Given the description of an element on the screen output the (x, y) to click on. 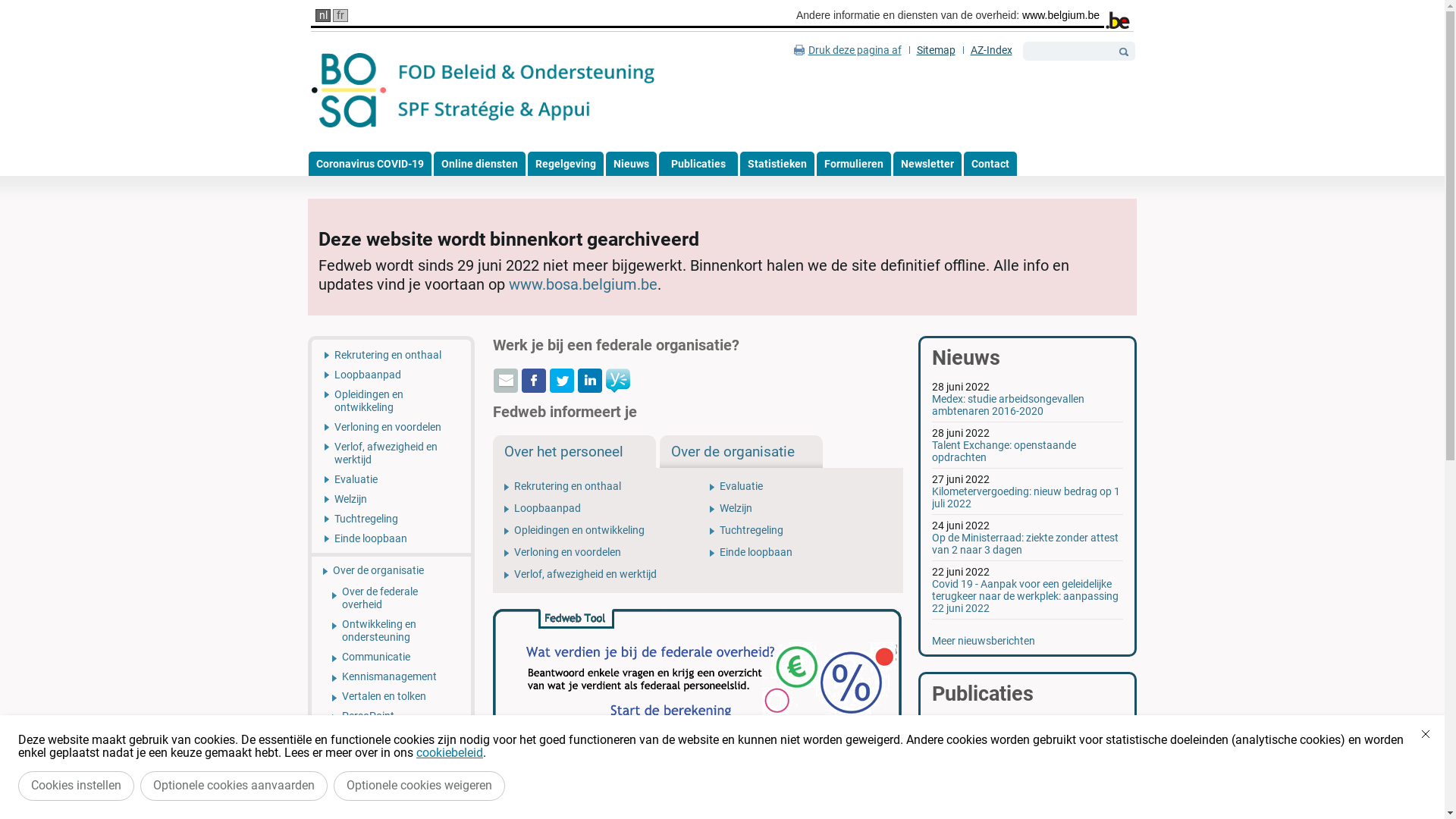
Evaluatie Element type: text (800, 486)
Kennismanagement Element type: text (390, 676)
www.bosa.belgium.be Element type: text (582, 284)
Medex: studie arbeidsongevallen ambtenaren 2016-2020 Element type: text (1007, 404)
Terug naar de Fedweb homepage Element type: hover (483, 90)
Einde loopbaan Element type: text (390, 540)
Budgettering en overheidsopdrachten Element type: text (390, 741)
Skip to main content Element type: text (48, 0)
Cookies instellen Element type: text (76, 785)
Meer nieuwsberichten Element type: text (983, 640)
fr Element type: text (340, 15)
Zoeken Element type: text (1123, 50)
Statistieken Element type: text (777, 163)
Verlof, afwezigheid en werktijd Element type: text (595, 574)
Nieuws Element type: text (630, 163)
Over de federale overheid Element type: text (390, 597)
Rekrutering en onthaal Element type: text (390, 351)
Tuchtregeling Element type: text (390, 518)
Optionele cookies weigeren Element type: text (419, 785)
Over de organisatie Element type: text (390, 568)
PersoPoint Element type: text (390, 715)
Rekrutering en onthaal Element type: text (595, 486)
ICT Element type: text (390, 770)
Welzijn Element type: text (800, 508)
Op de Ministerraad: ziekte zonder attest van 2 naar 3 dagen Element type: text (1024, 543)
Ontwikkeling en ondersteuning Element type: text (390, 630)
Sitemap Element type: text (935, 49)
Coronavirus COVID-19 Element type: text (368, 163)
Contact Element type: text (989, 163)
Evaluatie Element type: text (390, 479)
Optionele cookies aanvaarden Element type: text (233, 785)
Formulieren Element type: text (852, 163)
Vertalen en tolken Element type: text (390, 696)
Loopbaanpad Element type: text (390, 374)
Kilometervergoeding: nieuw bedrag op 1 juli 2022 Element type: text (1025, 497)
Publicaties Element type: text (697, 163)
Verloning en voordelen Element type: text (390, 426)
Tuchtregeling Element type: text (800, 530)
Verloning en voordelen Element type: text (595, 552)
Newsletter Element type: text (927, 163)
nl Element type: text (322, 15)
www.belgium.be Element type: text (1060, 15)
Communicatie Element type: text (390, 656)
AZ-Index Element type: text (991, 49)
Opleidingen en ontwikkeling Element type: text (390, 400)
Welzijn Element type: text (390, 498)
Druk deze pagina af Element type: text (847, 49)
Loopbaanpad Element type: text (595, 508)
cookiebeleid Element type: text (449, 752)
Regelgeving Element type: text (565, 163)
Talent Exchange: openstaande opdrachten Element type: text (1003, 451)
Einde loopbaan Element type: text (800, 552)
Online diensten Element type: text (479, 163)
Opleidingen en ontwikkeling Element type: text (595, 530)
Verlof, afwezigheid en werktijd Element type: text (390, 452)
Sluiten Element type: hover (1425, 733)
